Given the description of an element on the screen output the (x, y) to click on. 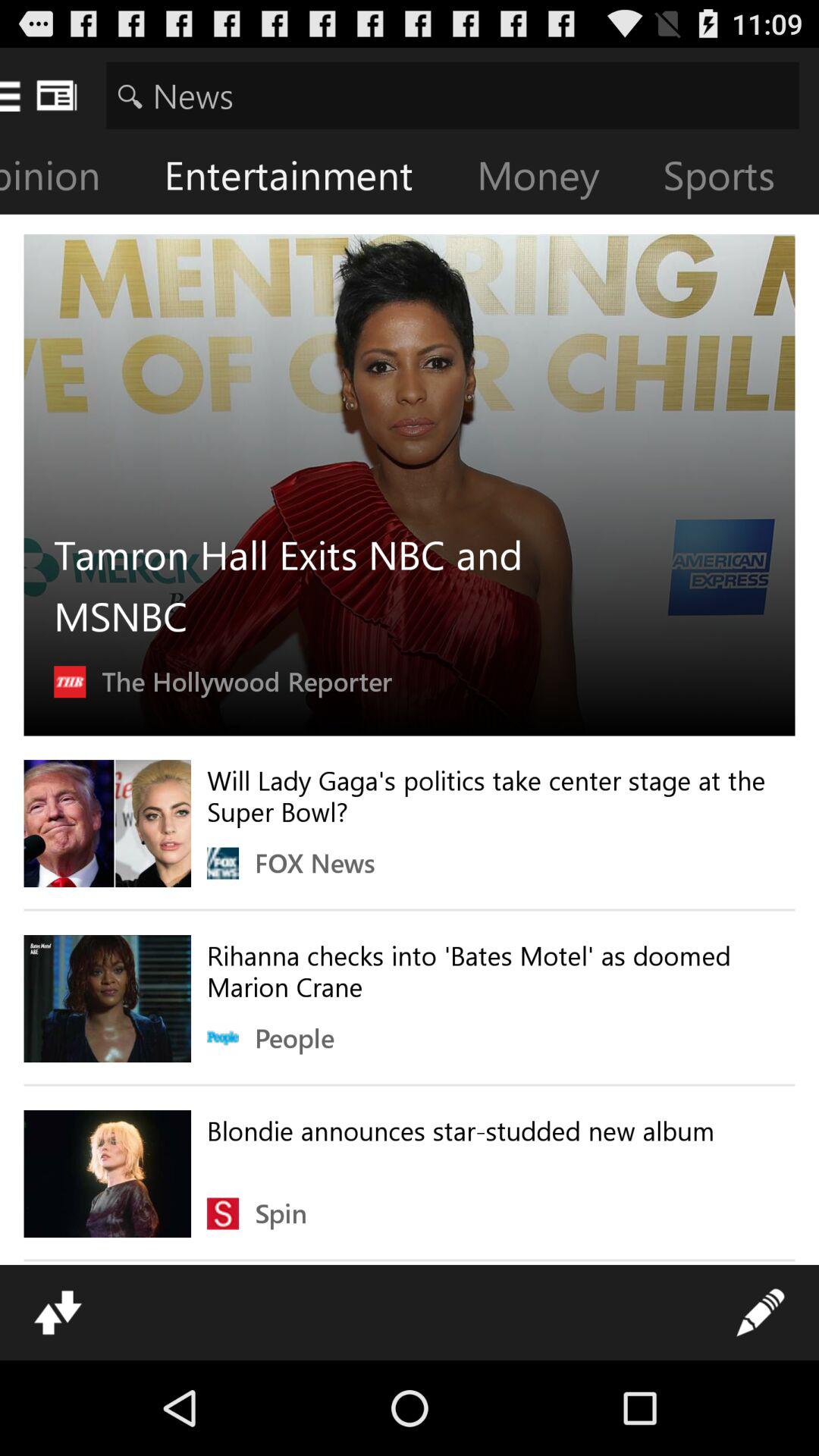
swipe to sports item (731, 178)
